Given the description of an element on the screen output the (x, y) to click on. 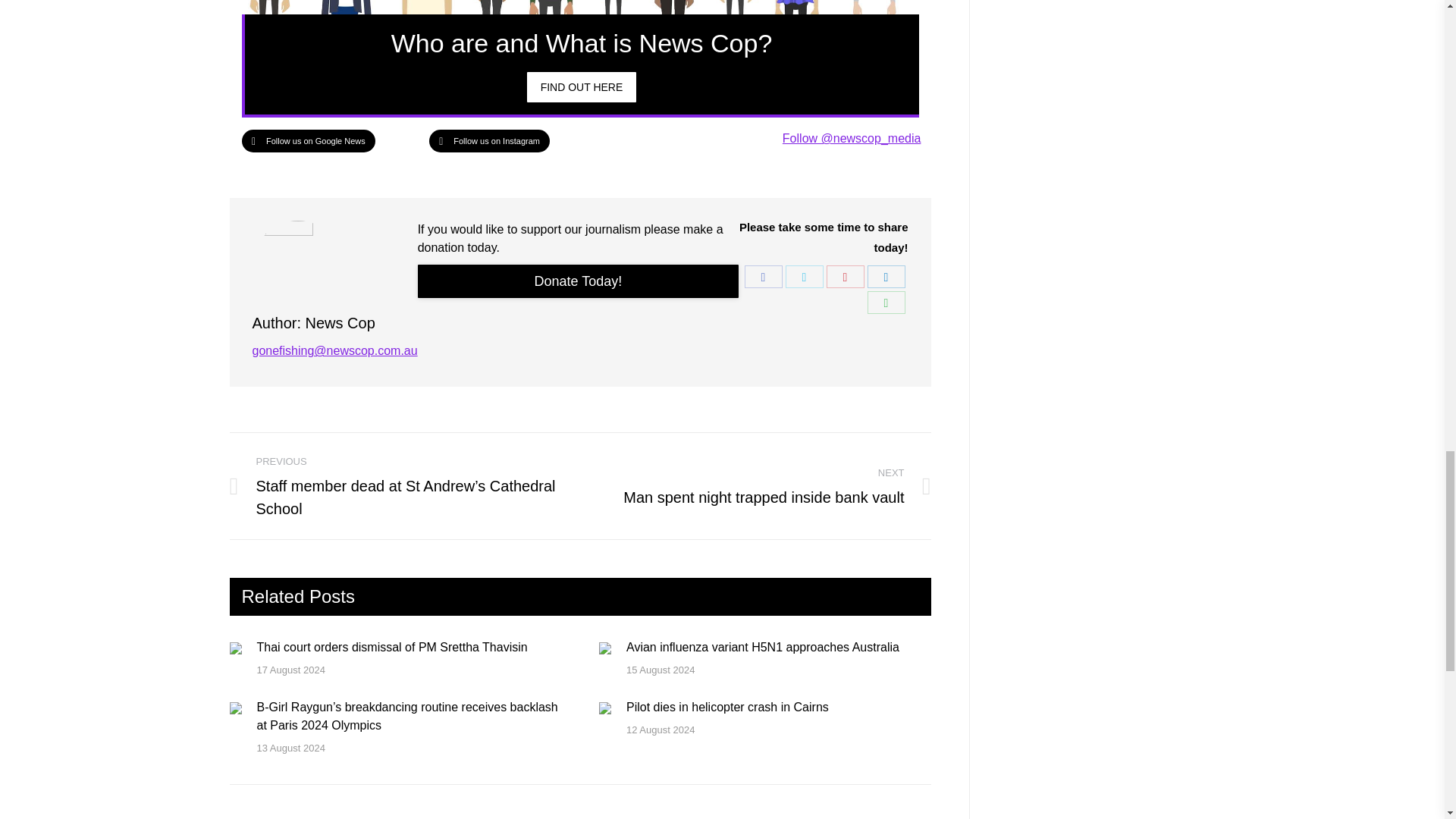
Complaints Form (578, 281)
Protests in Solomon Islands result in lockdown (582, 87)
HD people heads (579, 7)
Twitter (805, 276)
Facebook (763, 276)
